Given the description of an element on the screen output the (x, y) to click on. 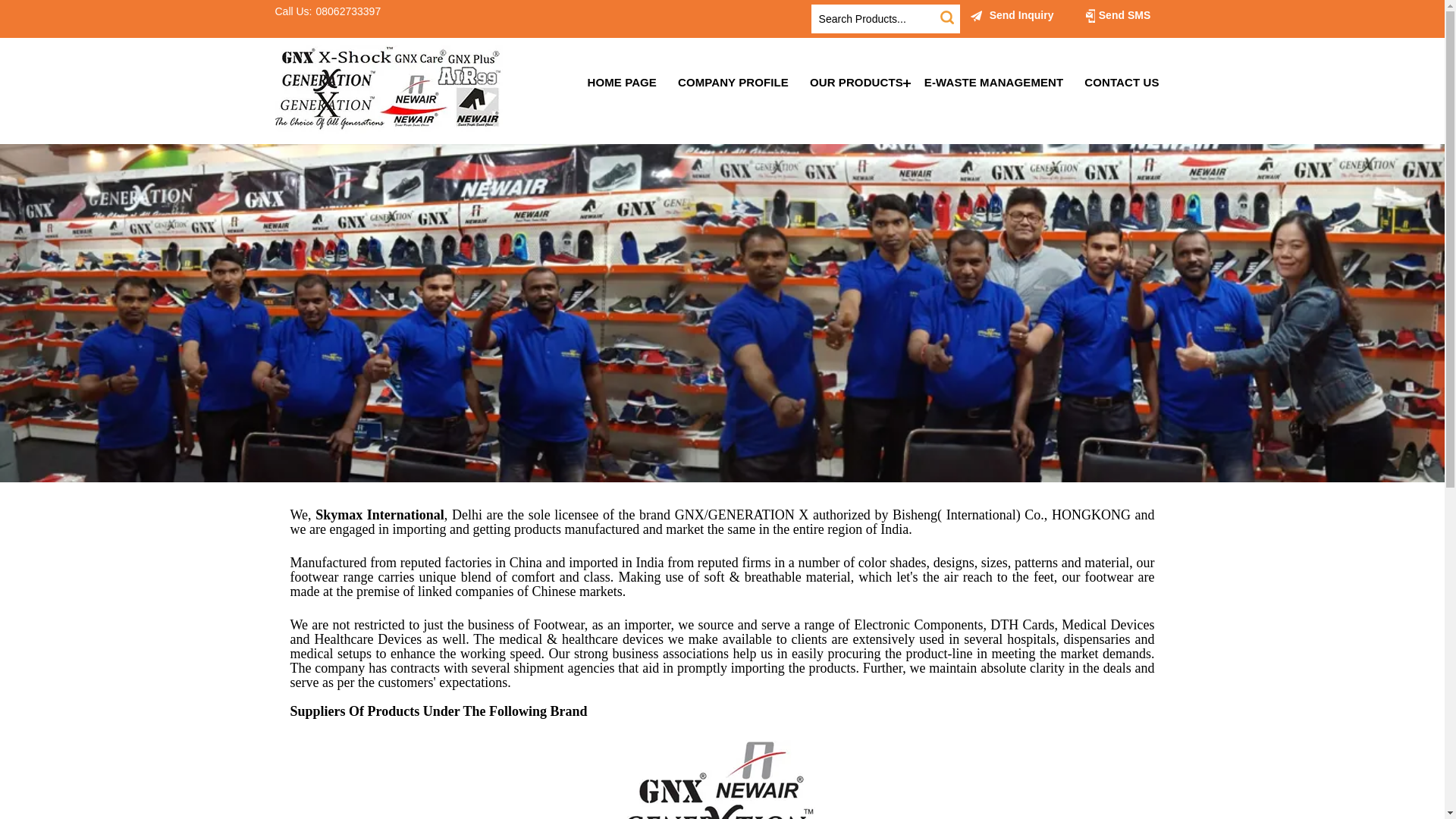
Search (946, 17)
OUR PRODUCTS (856, 81)
Send SMS (1117, 15)
COMPANY PROFILE (732, 81)
Search Products... (875, 18)
HOME PAGE (621, 81)
Send Inquiry (976, 15)
submit (946, 17)
Send Inquiry (1012, 15)
Skymax International (388, 89)
